Given the description of an element on the screen output the (x, y) to click on. 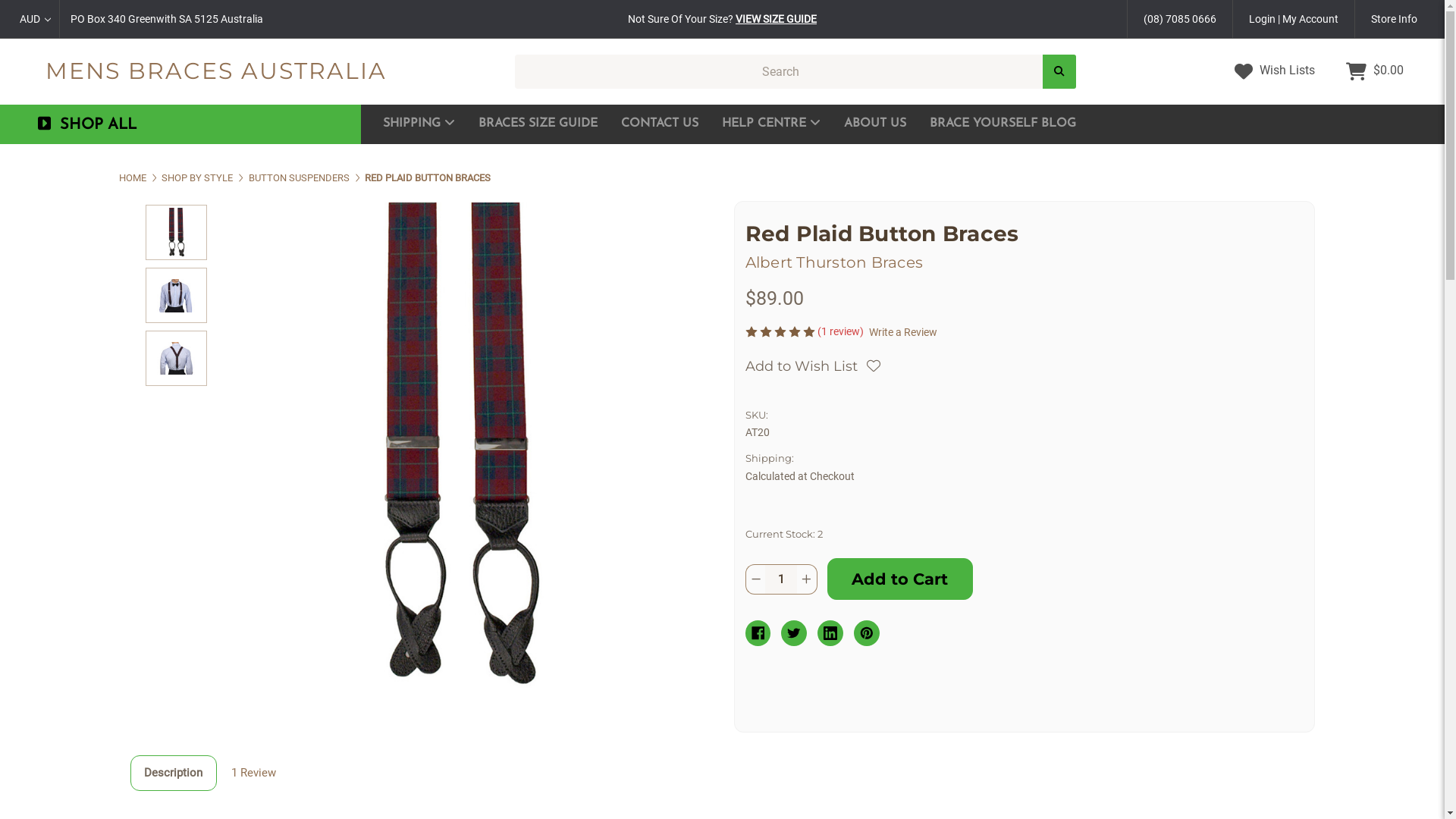
Twitter Element type: hover (793, 633)
(1 review) Element type: text (841, 331)
Search Element type: text (1059, 71)
Red Plaid Button Braces Element type: hover (175, 294)
CONTACT US Element type: text (659, 123)
Login | My Account Element type: text (1293, 18)
SHOP BY STYLE Element type: text (196, 177)
MENS BRACES AUSTRALIA Element type: text (215, 70)
Add to Cart Element type: text (899, 578)
Facebook Element type: hover (757, 633)
ABOUT US Element type: text (875, 123)
SHIPPING Element type: text (418, 123)
RED PLAID BUTTON BRACES Element type: text (427, 177)
1 Review Element type: text (253, 772)
Pinterest Element type: hover (866, 633)
Submit Search Element type: hover (1059, 71)
Store Info Element type: text (1393, 18)
Red Plaid Button Braces Element type: hover (175, 232)
Red Plaid Button Braces Element type: hover (455, 450)
(08) 7085 0666 Element type: text (1179, 18)
$0.00 Element type: text (1374, 70)
AUD Element type: text (35, 18)
Wish Lists Element type: text (1274, 70)
Add to Wish List Element type: text (811, 366)
Albert Thurston Braces Element type: text (833, 262)
BUTTON SUSPENDERS Element type: text (298, 177)
Write a Review Element type: text (903, 332)
BRACE YOURSELF BLOG Element type: text (1002, 123)
HOME Element type: text (131, 177)
Increase Quantity of Red Plaid Button Braces Element type: text (806, 579)
Linkedin Element type: hover (830, 633)
Description Element type: text (173, 772)
Red Plaid Button Braces Y Back Element type: hover (175, 357)
BRACES SIZE GUIDE Element type: text (537, 123)
Regular Post Element type: text (477, 162)
Decrease Quantity of Red Plaid Button Braces Element type: text (754, 579)
HELP CENTRE Element type: text (770, 123)
VIEW SIZE GUIDE Element type: text (775, 18)
FAQ Element type: text (816, 162)
